Given the description of an element on the screen output the (x, y) to click on. 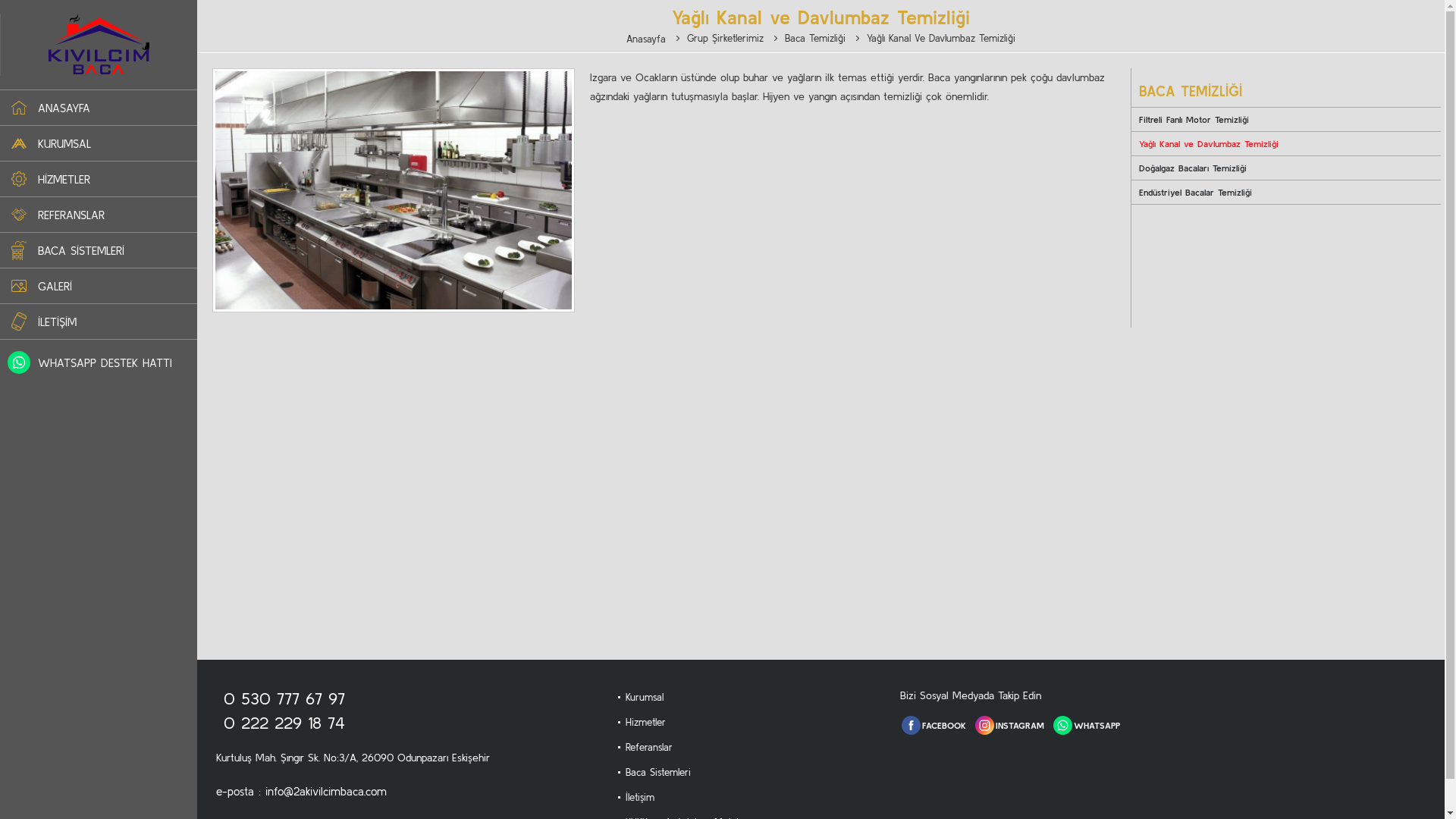
Anasayfa Element type: text (645, 37)
KURUMSAL Element type: text (64, 143)
Baca Sistemleri Element type: text (657, 772)
e-posta : info@2akivilcimbaca.com Element type: text (301, 790)
FACEBOOK Element type: text (944, 725)
Kurumsal Element type: text (644, 696)
REFERANSLAR Element type: text (70, 214)
WHATSAPP DESTEK HATTI Element type: text (104, 362)
0 530 777 67 97 Element type: text (284, 698)
WHATSAPP Element type: text (1096, 725)
INSTAGRAM Element type: text (1019, 725)
Referanslar Element type: text (648, 747)
Hizmetler Element type: text (645, 722)
ANASAYFA Element type: text (63, 107)
0 222 229 18 74 Element type: text (284, 722)
